Given the description of an element on the screen output the (x, y) to click on. 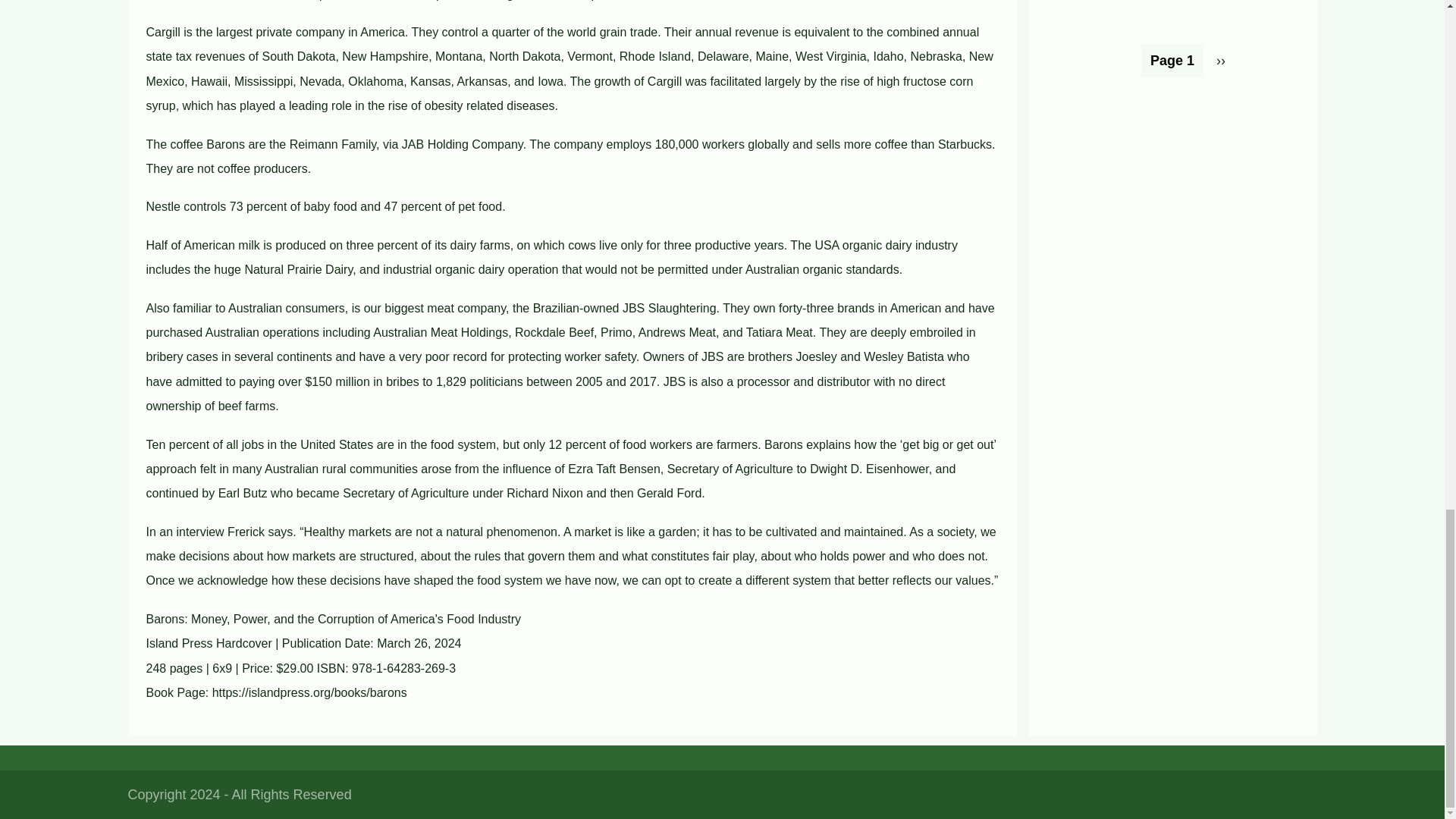
Go to next page (1220, 60)
